Given the description of an element on the screen output the (x, y) to click on. 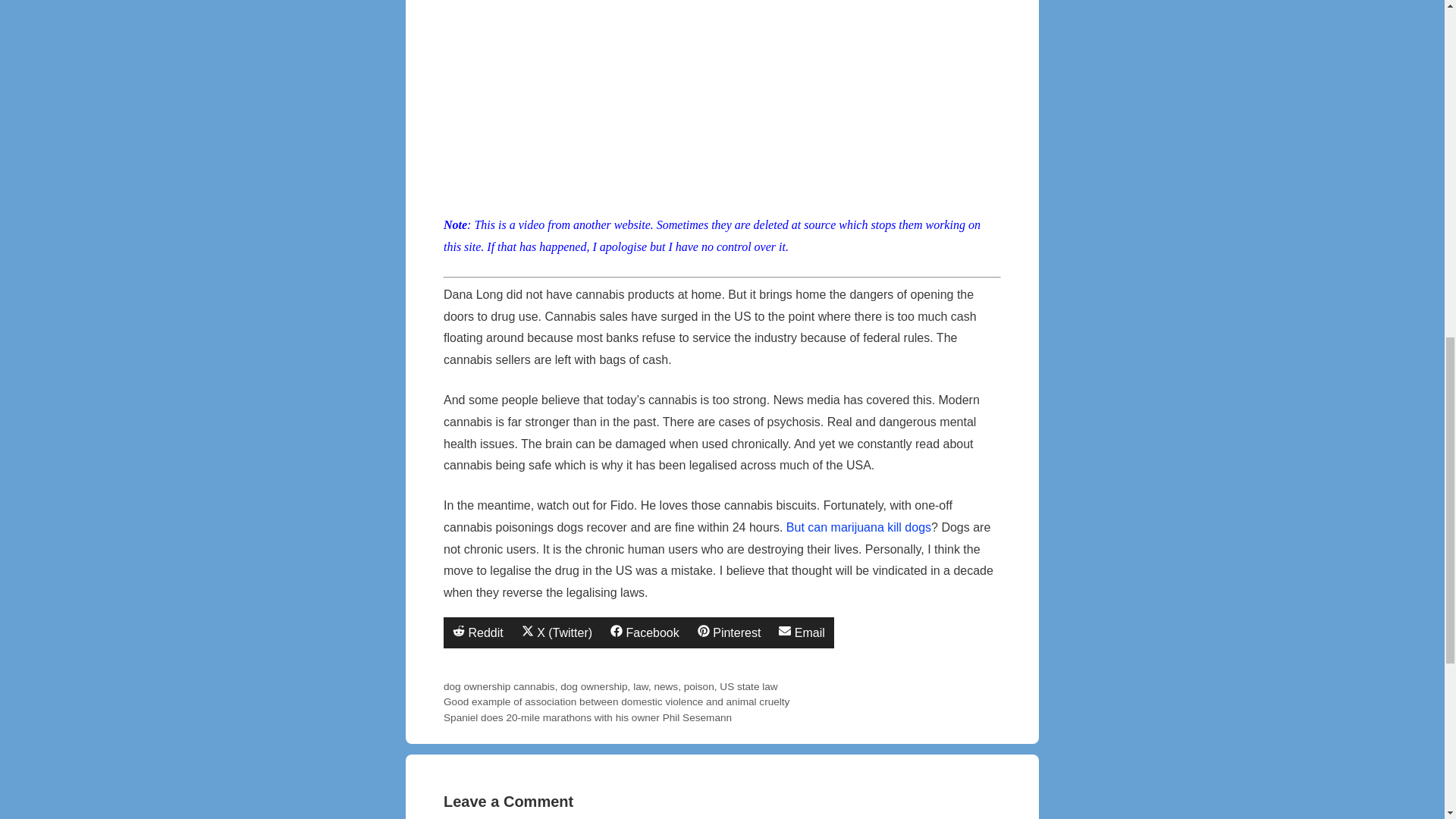
dog ownership (477, 686)
Spaniel does 20-mile marathons with his owner Phil Sesemann (588, 717)
US state law (748, 686)
news (665, 686)
poison (644, 632)
But can marijuana kill dogs (801, 632)
Siberian Husky Dog Eats Marijuana Edible (699, 686)
